Given the description of an element on the screen output the (x, y) to click on. 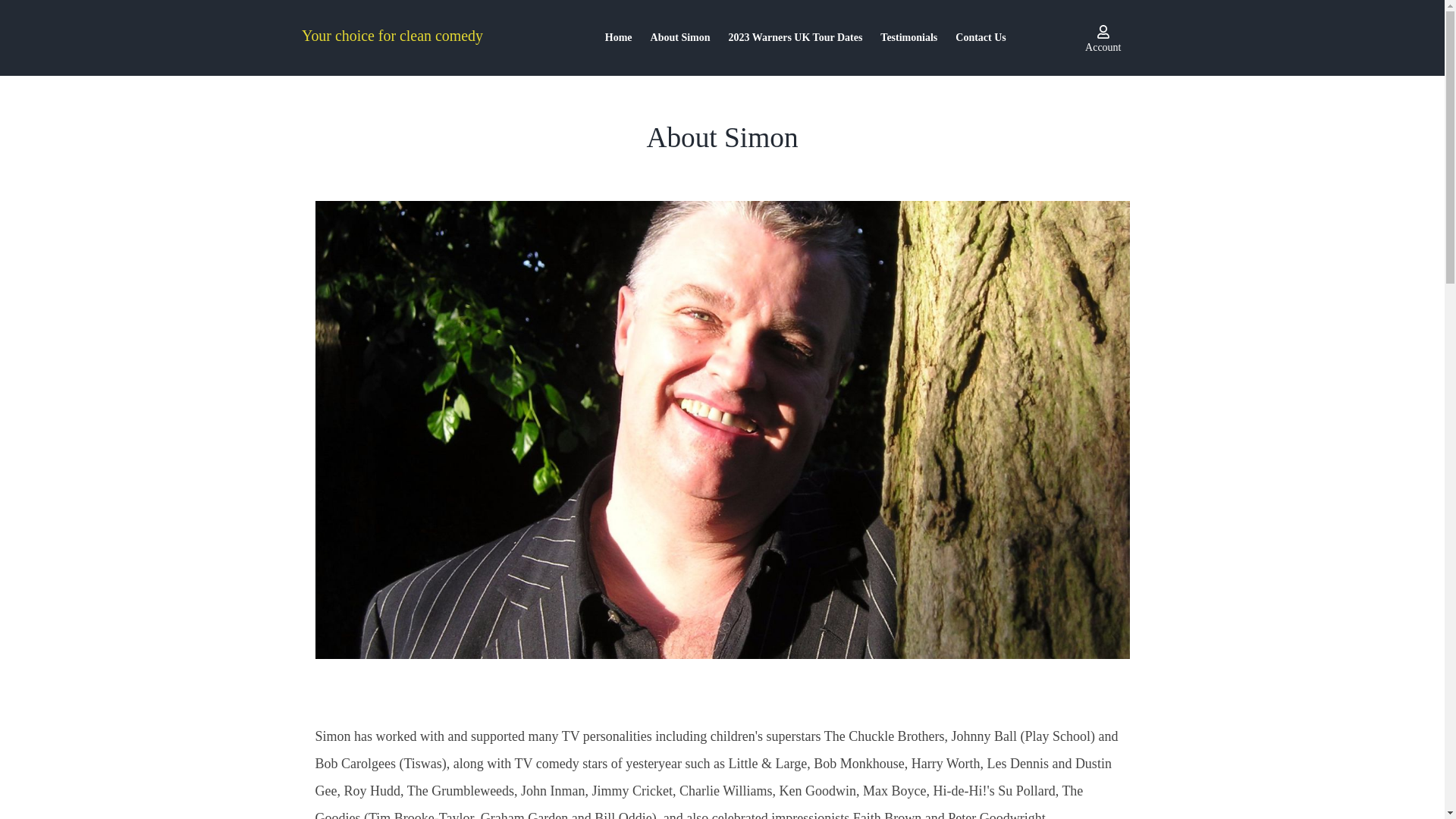
Home (618, 37)
Your choice for clean comedy (415, 37)
2023 Warners UK Tour Dates (794, 37)
Testimonials (908, 37)
About Simon (680, 37)
Contact Us (980, 37)
Your choice for clean comedy (415, 36)
Account (1102, 36)
